Given the description of an element on the screen output the (x, y) to click on. 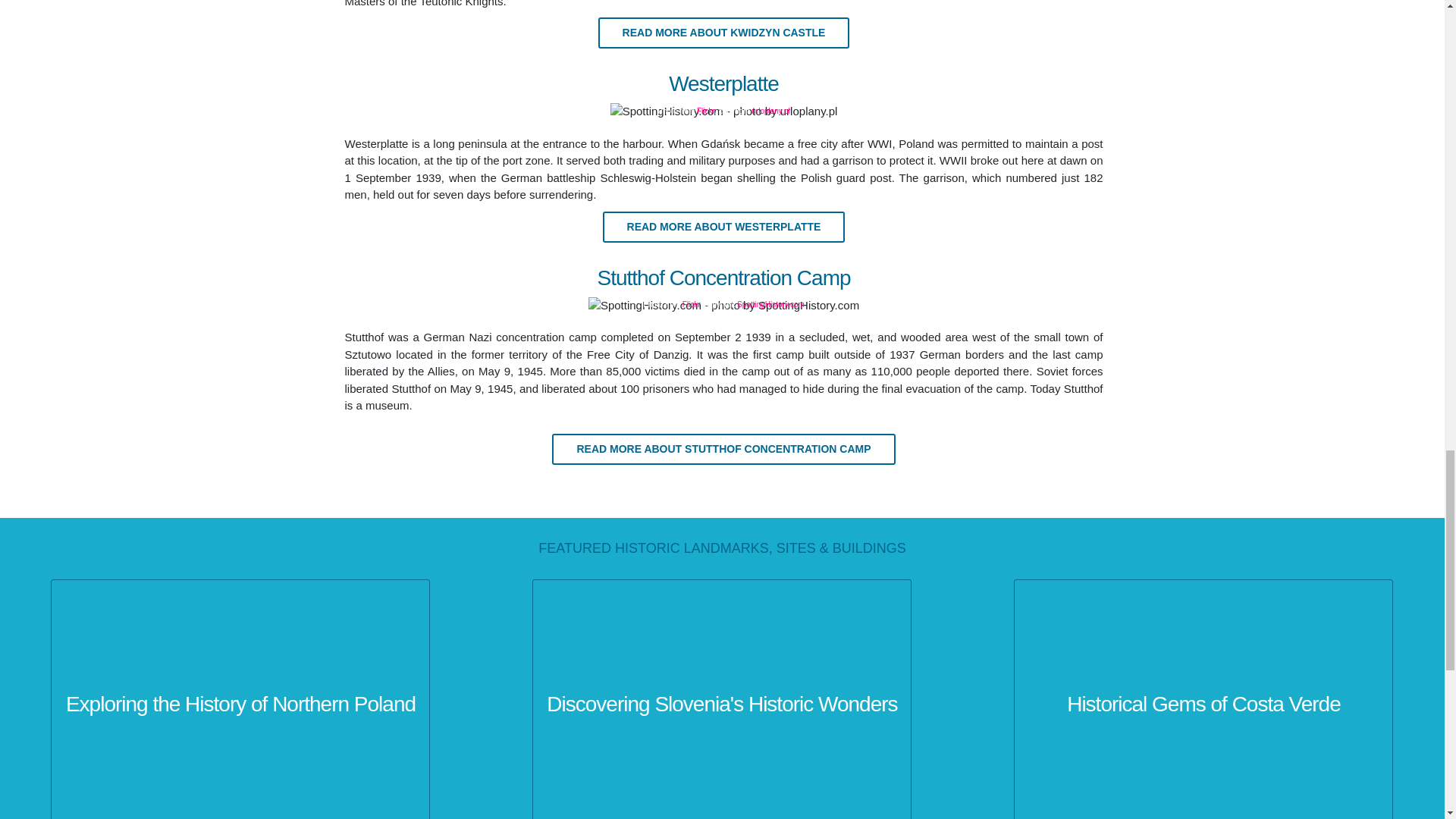
READ MORE ABOUT KWIDZYN CASTLE (724, 31)
urloplany.pl (770, 111)
READ MORE ABOUT WESTERPLATTE (723, 226)
READ MORE ABOUT KWIDZYN CASTLE (724, 32)
Flickr (691, 304)
READ MORE ABOUT WESTERPLATTE (723, 226)
SpottingHistory.com (770, 304)
Flickr (705, 111)
